Given the description of an element on the screen output the (x, y) to click on. 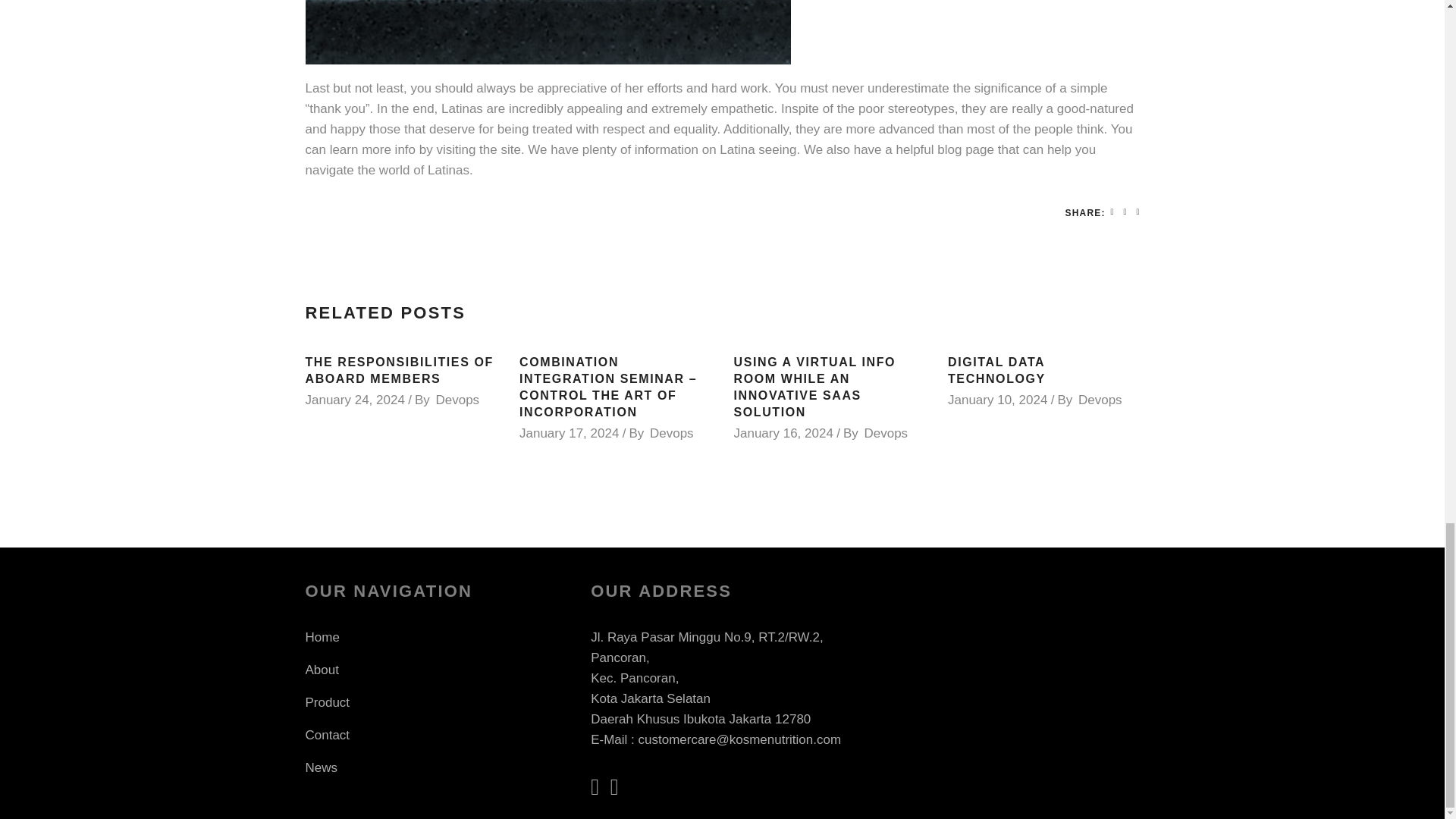
Devops (671, 432)
Product (326, 702)
About (320, 669)
January 10, 2024 (996, 400)
DIGITAL DATA TECHNOLOGY (996, 369)
Using a Virtual Info Room While an Innovative SaaS Solution (814, 386)
Digital Data Technology (996, 369)
January 17, 2024 (568, 432)
THE RESPONSIBILITIES OF ABOARD MEMBERS (398, 369)
Contact (326, 735)
